Given the description of an element on the screen output the (x, y) to click on. 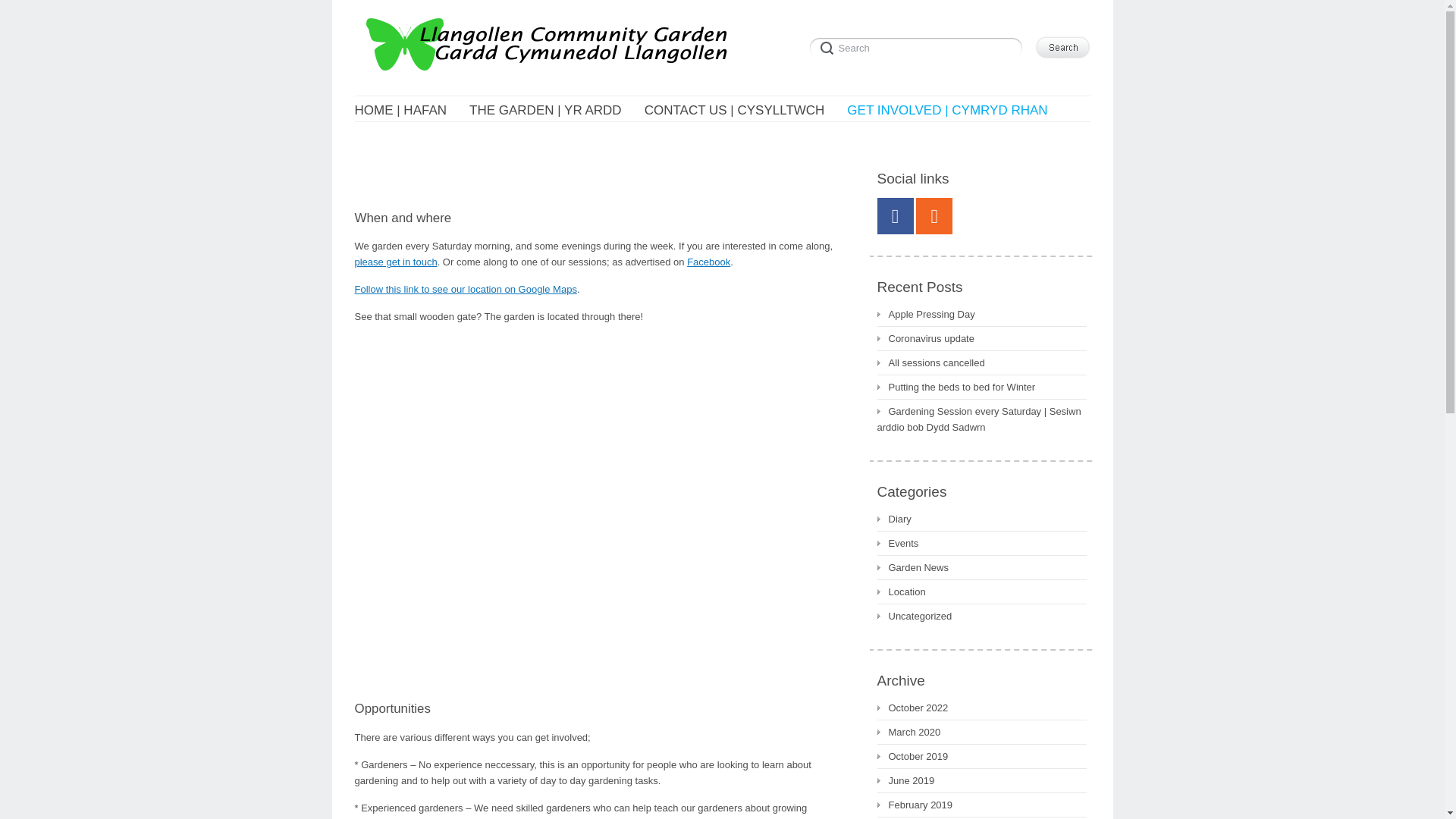
October 2022 (911, 707)
please get in touch (396, 261)
Facebook (708, 261)
Coronavirus update (925, 338)
All sessions cancelled (930, 362)
search (918, 45)
Search (918, 45)
Location (900, 591)
Search (1061, 47)
March 2020 (908, 732)
Facebook (894, 216)
Search (918, 45)
Uncategorized (914, 615)
Events (897, 543)
October 2019 (911, 755)
